Given the description of an element on the screen output the (x, y) to click on. 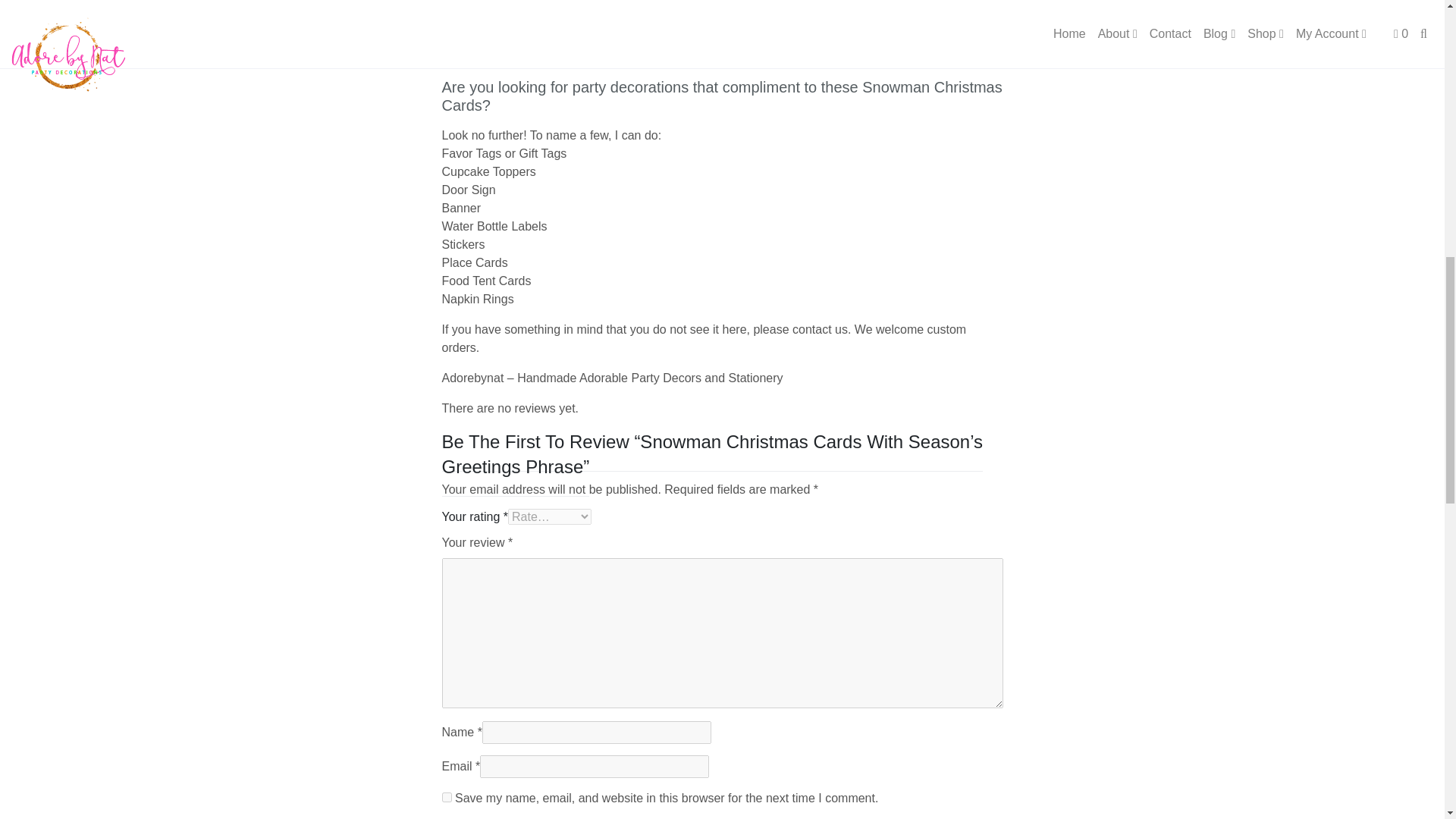
yes (446, 797)
